Given the description of an element on the screen output the (x, y) to click on. 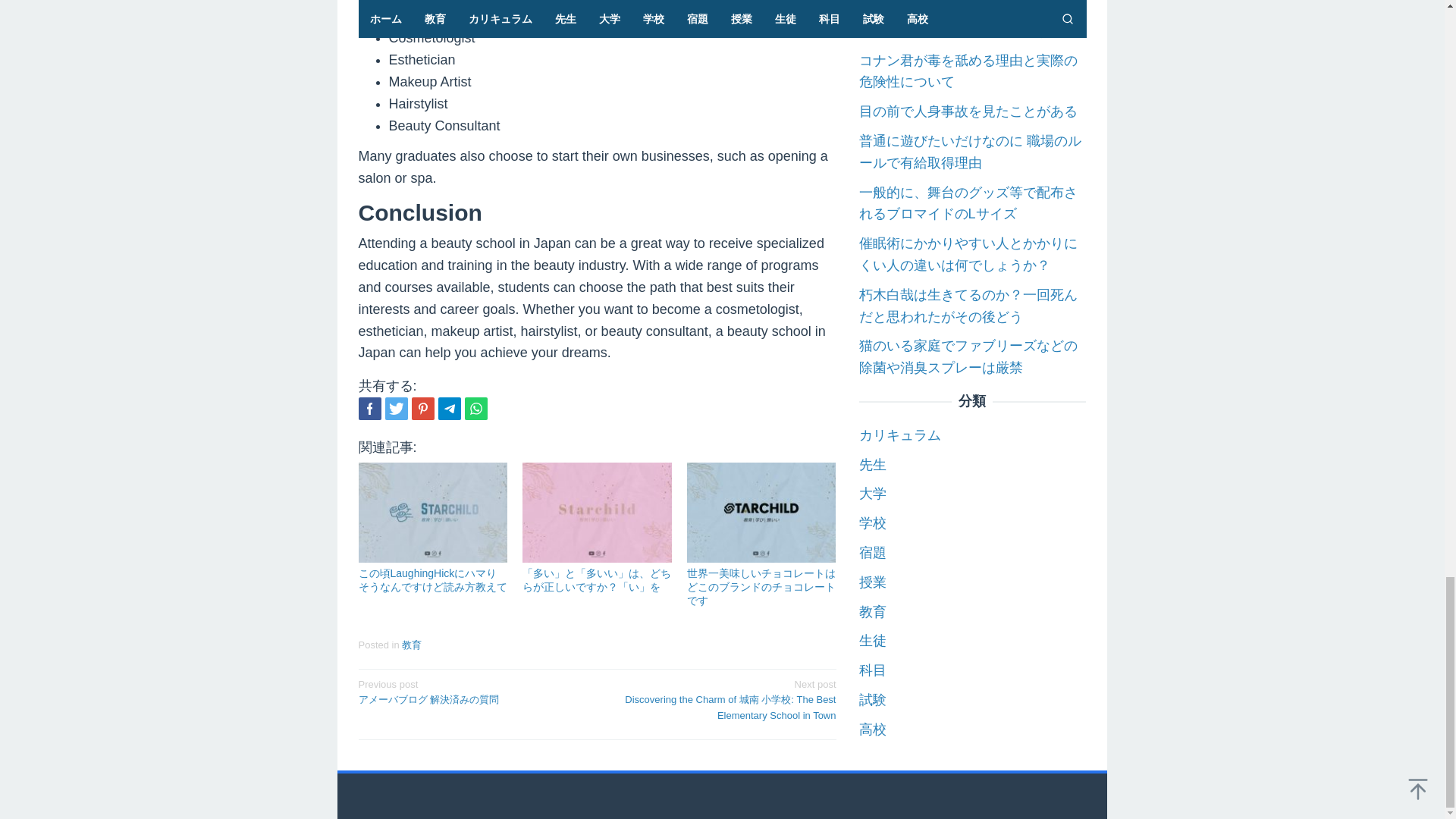
Whatsapp (475, 408)
Telegram Share (449, 408)
Pin this (421, 408)
Tweet this (396, 408)
Share this (369, 408)
